Given the description of an element on the screen output the (x, y) to click on. 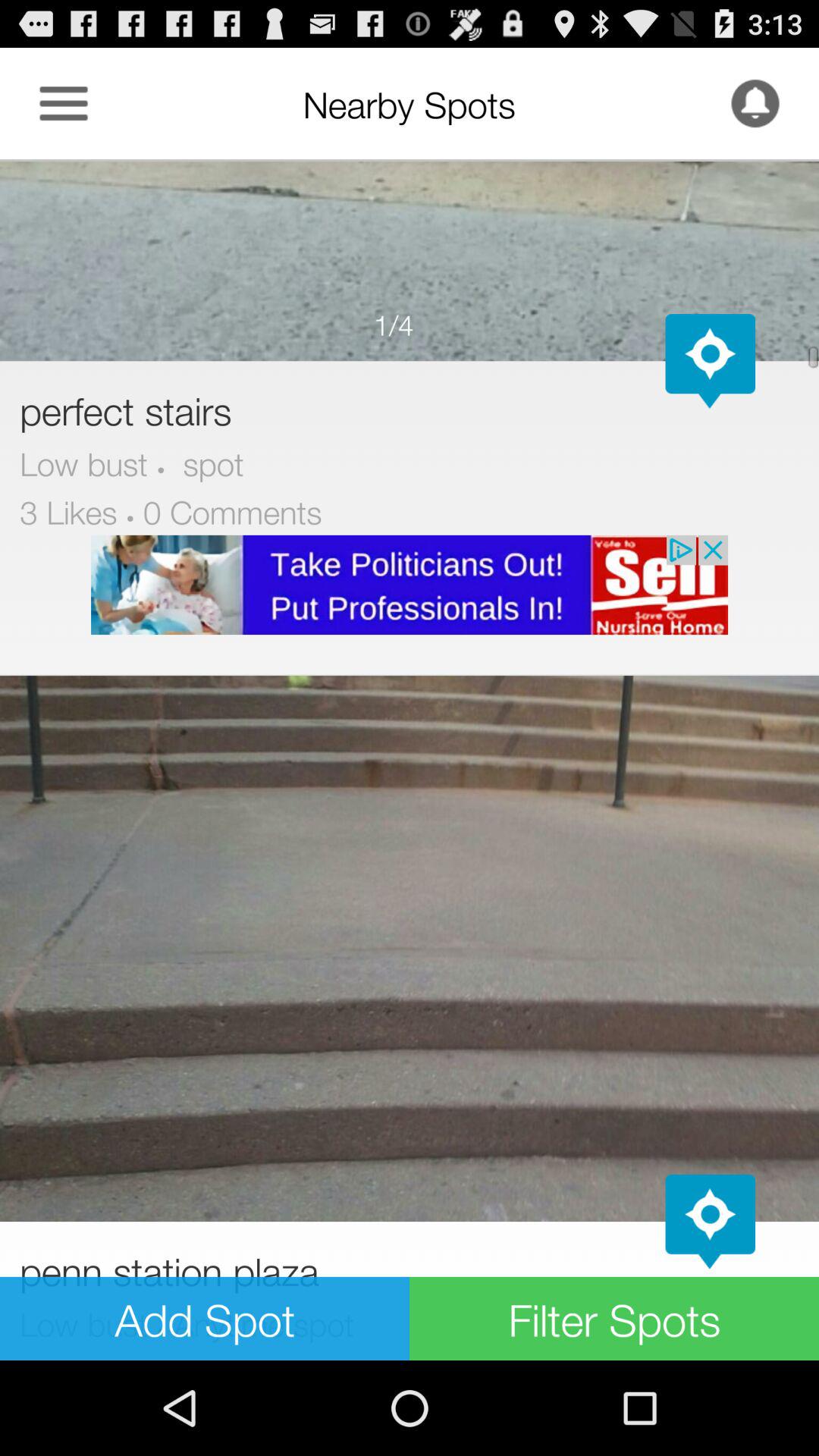
this would tag the address using gps (710, 1221)
